Given the description of an element on the screen output the (x, y) to click on. 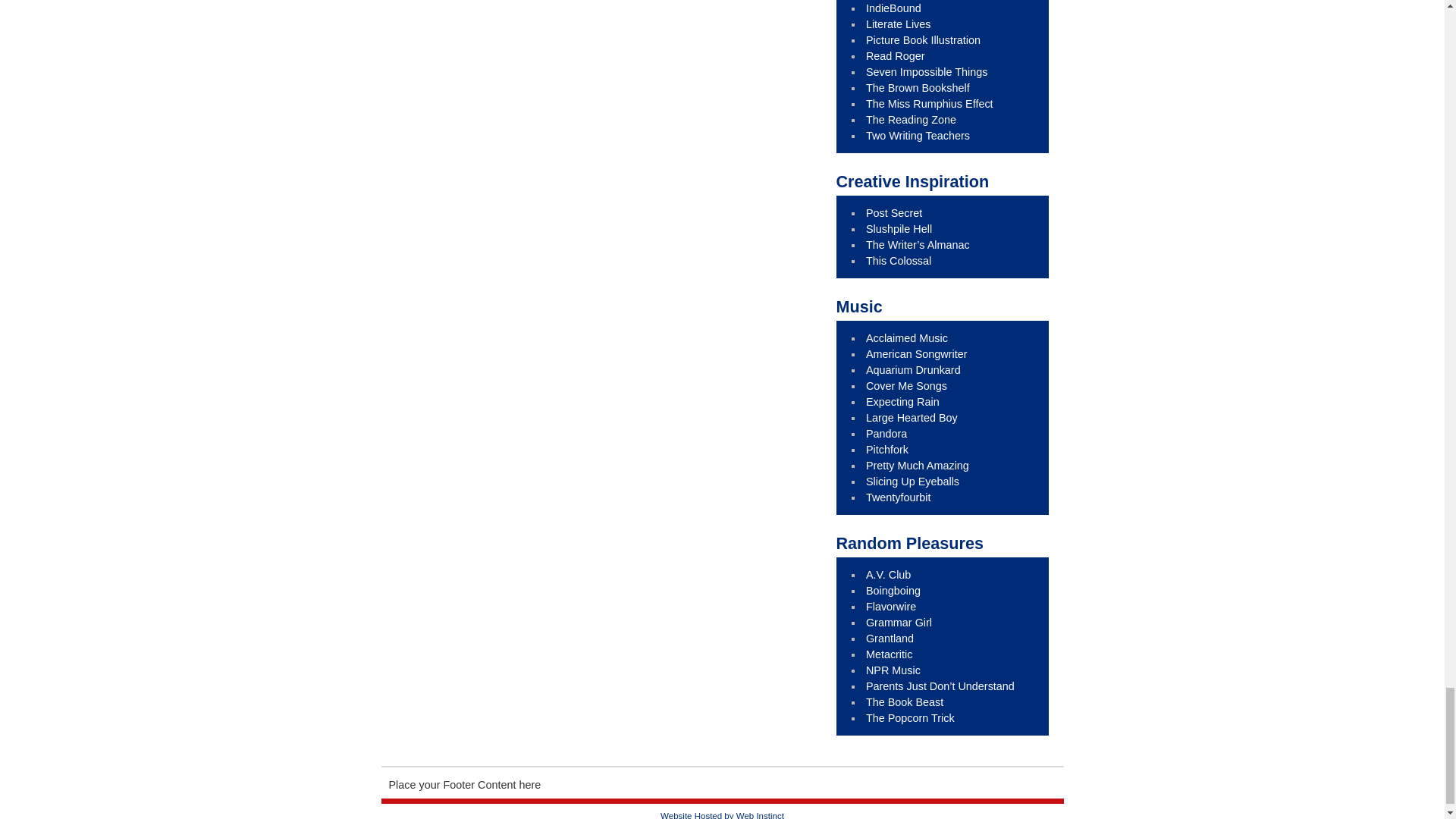
Book News and Recommendations (893, 8)
Quick. Lively. Beautiful. Artistic. Fun. (922, 39)
